Given the description of an element on the screen output the (x, y) to click on. 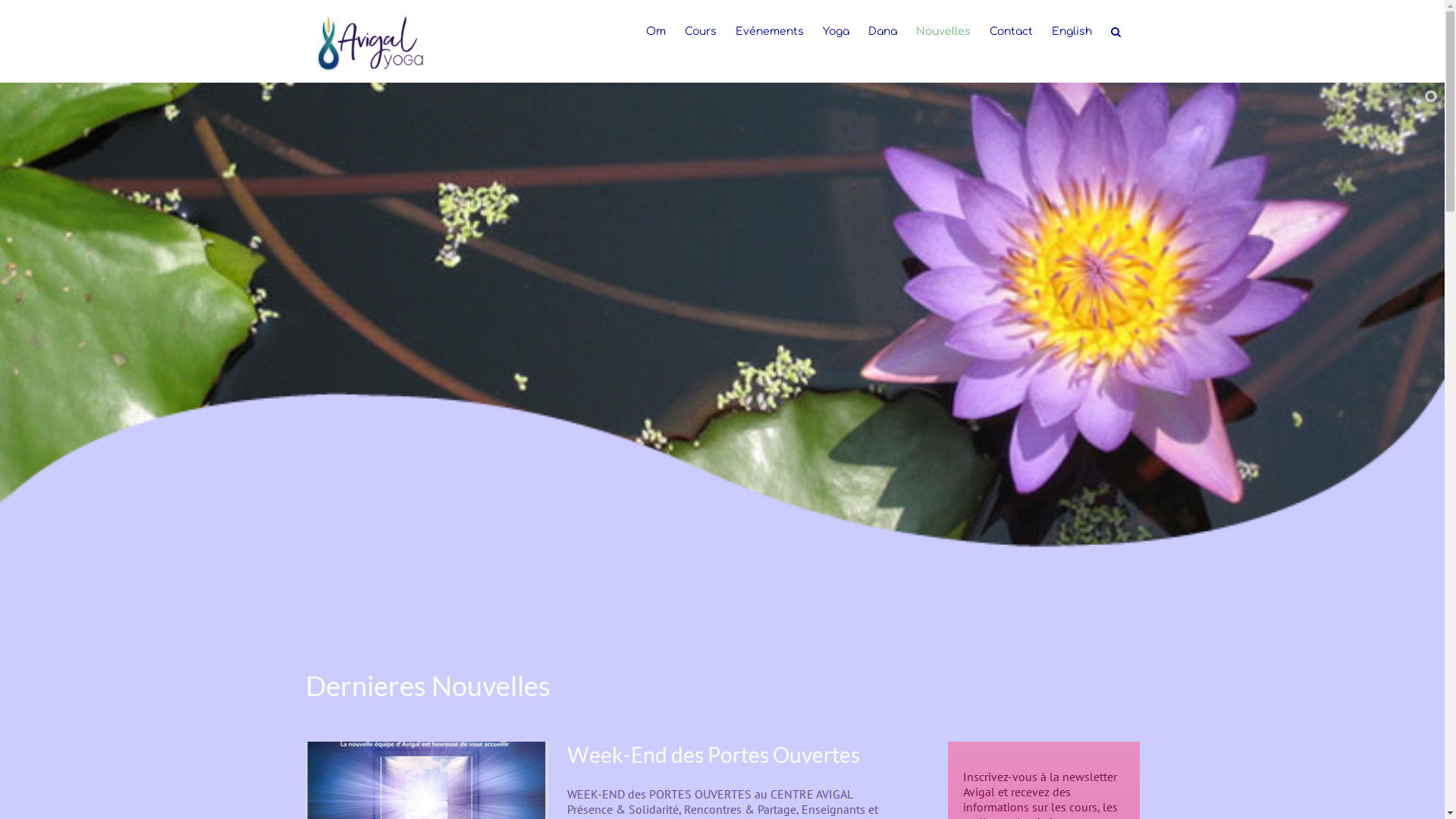
Search Element type: hover (1115, 31)
Contact Element type: text (1010, 31)
Week-End des Portes Ouvertes Element type: text (713, 754)
Nouvelles Element type: text (943, 31)
Om Element type: text (655, 31)
Yoga Element type: text (835, 31)
Cours Element type: text (699, 31)
English Element type: text (1071, 31)
Dana Element type: text (881, 31)
